Given the description of an element on the screen output the (x, y) to click on. 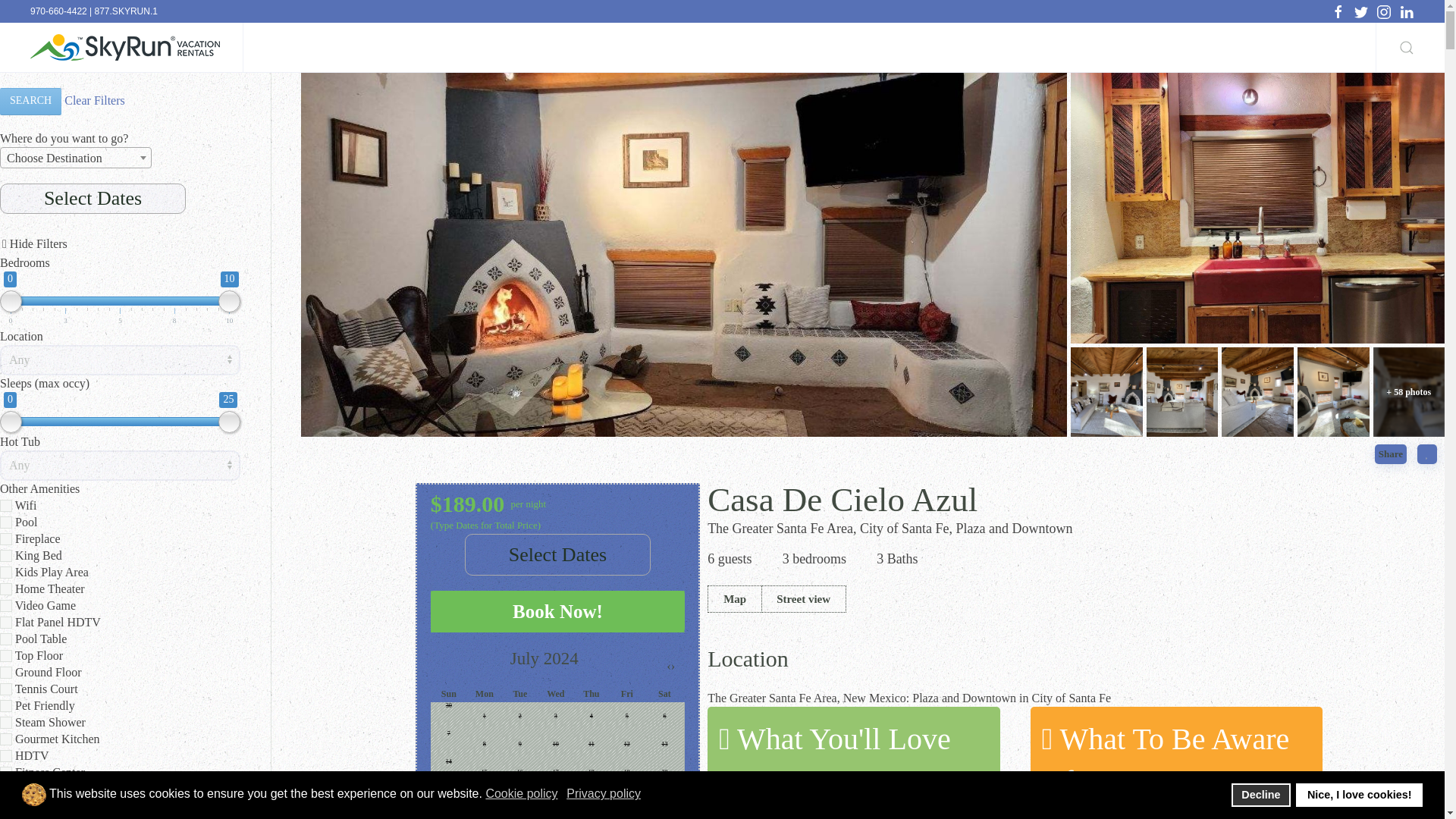
7 (5, 672)
5 (5, 605)
Choose Destination  (76, 158)
4 (5, 589)
CLICK FOR ADVANCED FILTERS (120, 243)
16 (5, 639)
Cookie policy (521, 793)
Privacy policy (604, 793)
1 (5, 505)
6 (5, 655)
14 (5, 522)
17 (5, 689)
2 (5, 539)
3 (5, 572)
Decline (1260, 794)
